Given the description of an element on the screen output the (x, y) to click on. 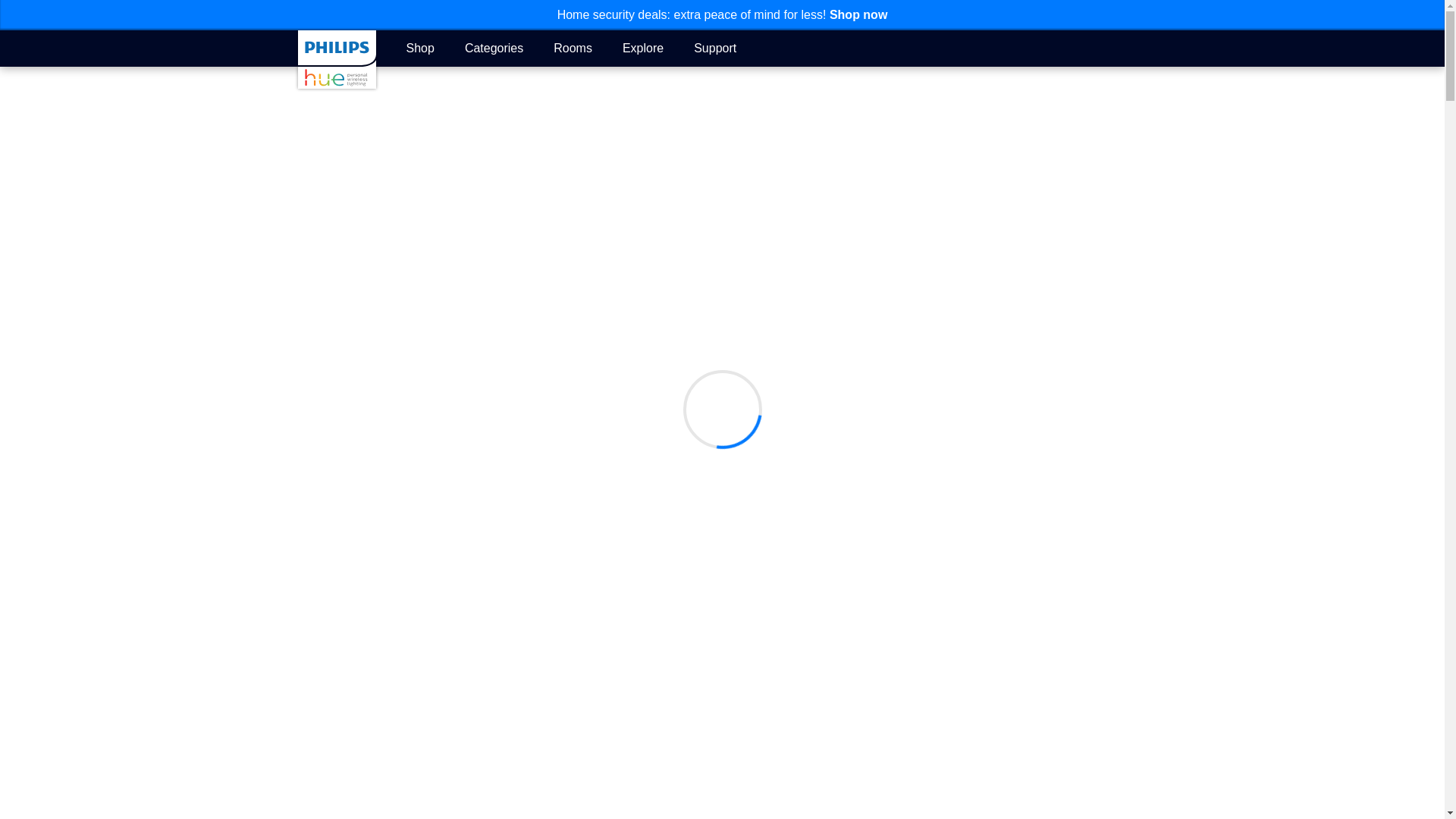
Philips Hue (336, 59)
Shopping basket (1137, 47)
Categories (493, 47)
Shop now (857, 14)
